Given the description of an element on the screen output the (x, y) to click on. 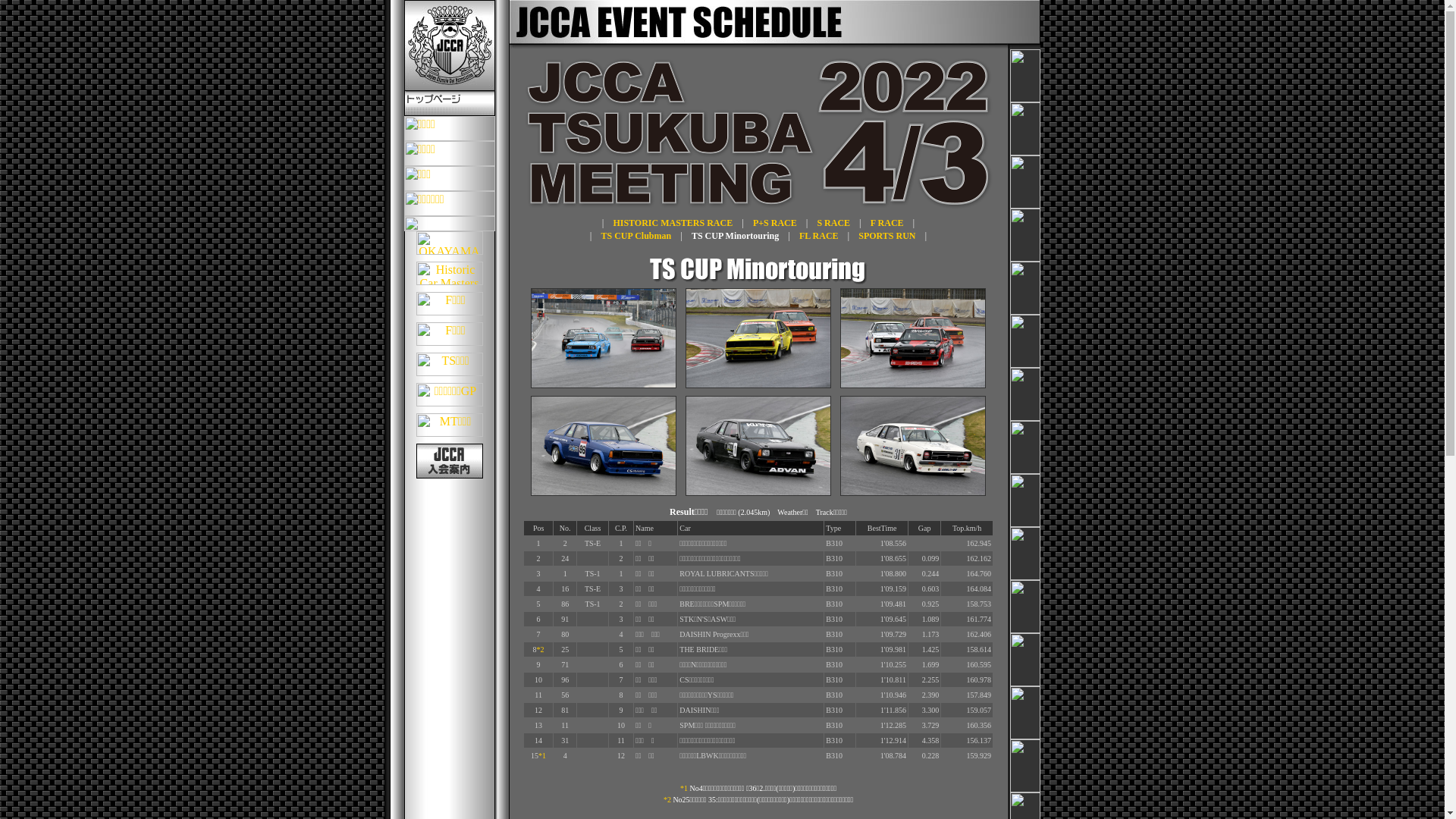
P+S RACE Element type: text (775, 222)
HISTORIC MASTERS RACE Element type: text (672, 222)
SPORTS RUN Element type: text (886, 235)
S RACE Element type: text (833, 222)
F RACE Element type: text (886, 222)
FL RACE Element type: text (818, 235)
TS CUP Clubman Element type: text (636, 235)
